Given the description of an element on the screen output the (x, y) to click on. 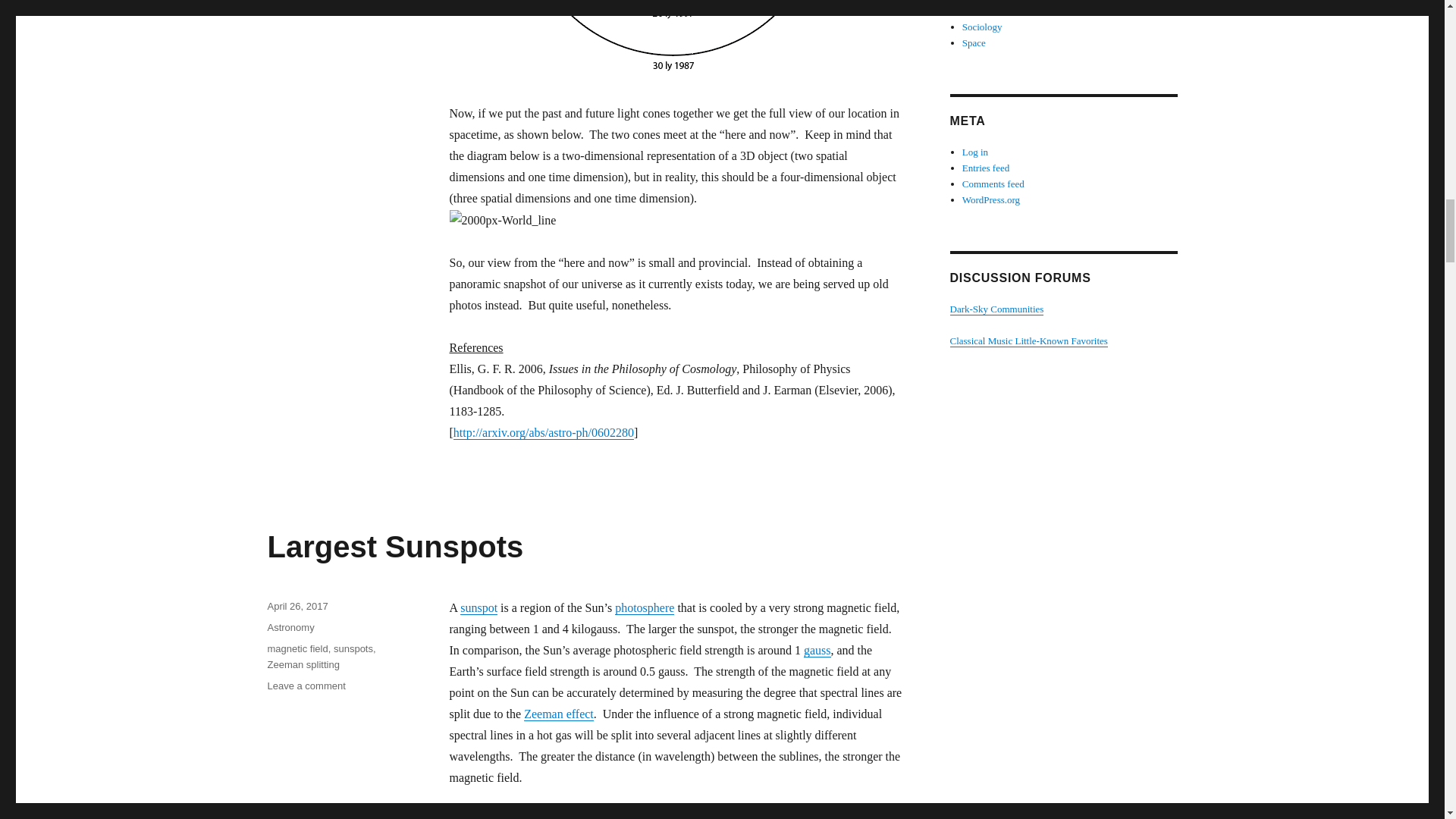
Astronomy (290, 627)
Zeeman effect (559, 713)
sunspot (478, 607)
gauss (817, 649)
photosphere (644, 607)
April 26, 2017 (296, 605)
magnetic field (305, 685)
sunspots (296, 648)
Zeeman splitting (352, 648)
Largest Sunspots (302, 664)
